Given the description of an element on the screen output the (x, y) to click on. 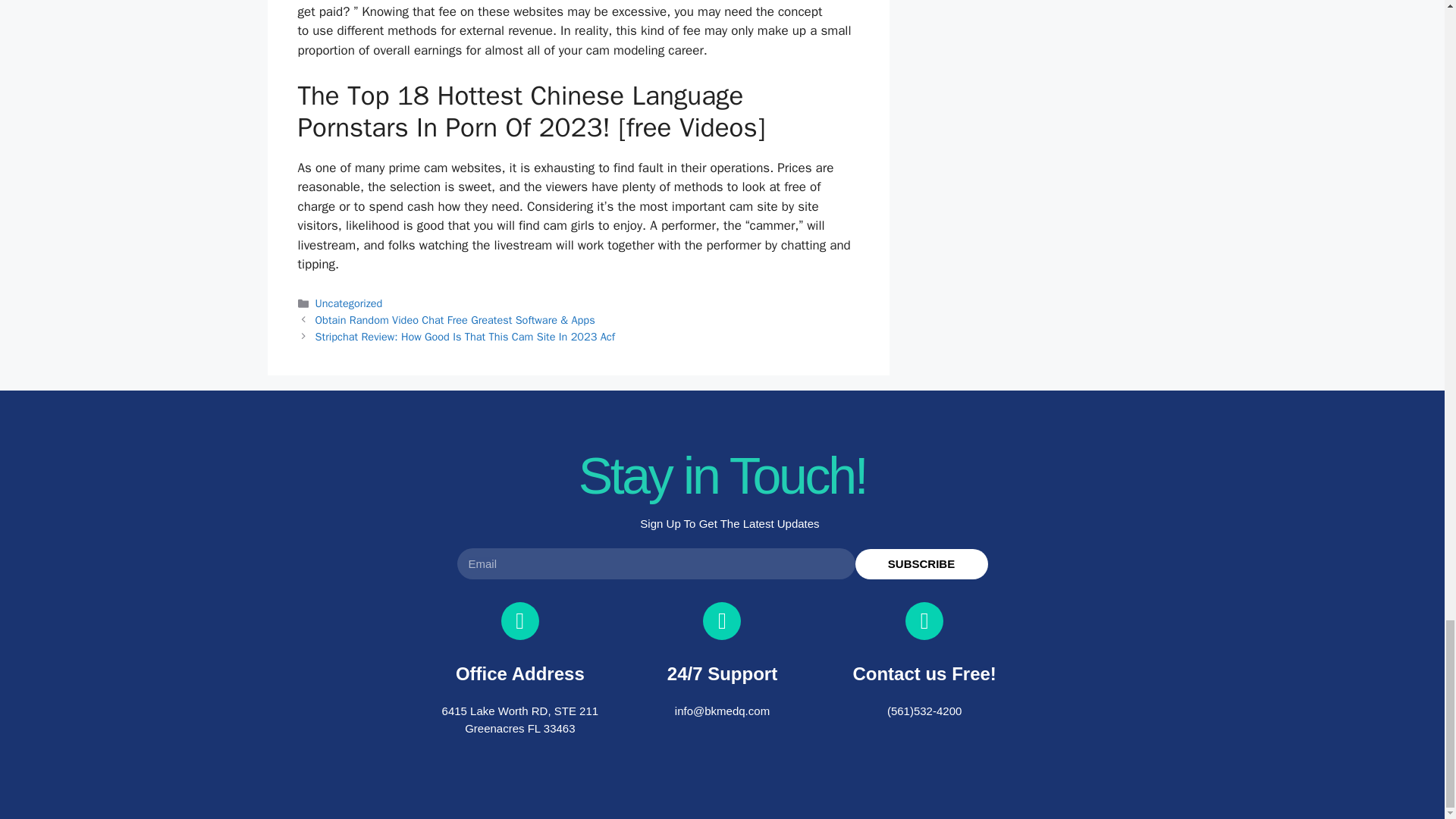
Uncategorized (348, 303)
SUBSCRIBE (922, 563)
Stripchat Review: How Good Is That This Cam Site In 2023 Acf (464, 336)
